Given the description of an element on the screen output the (x, y) to click on. 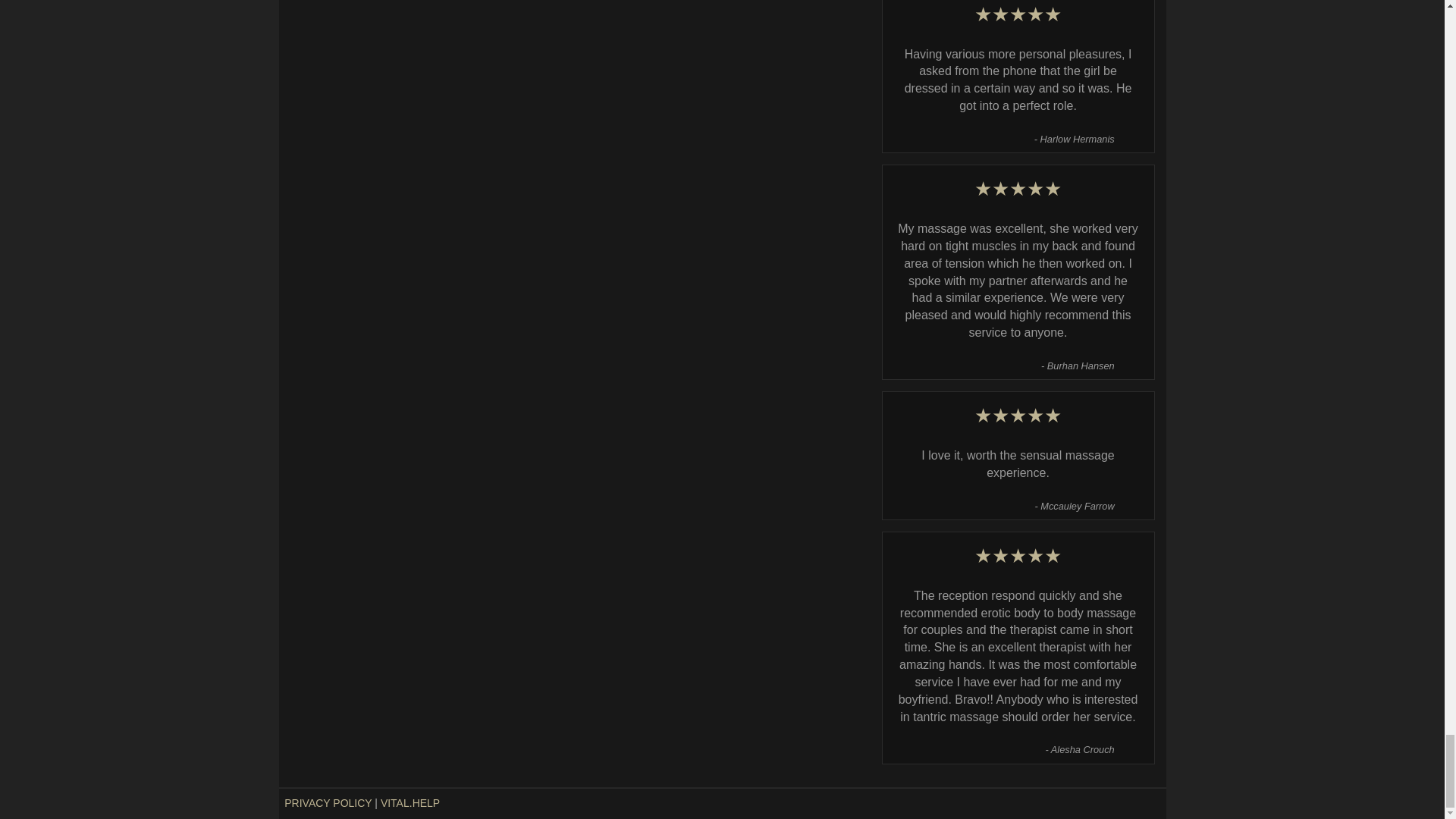
PRIVACY POLICY (327, 802)
VITAL.HELP (409, 802)
